Given the description of an element on the screen output the (x, y) to click on. 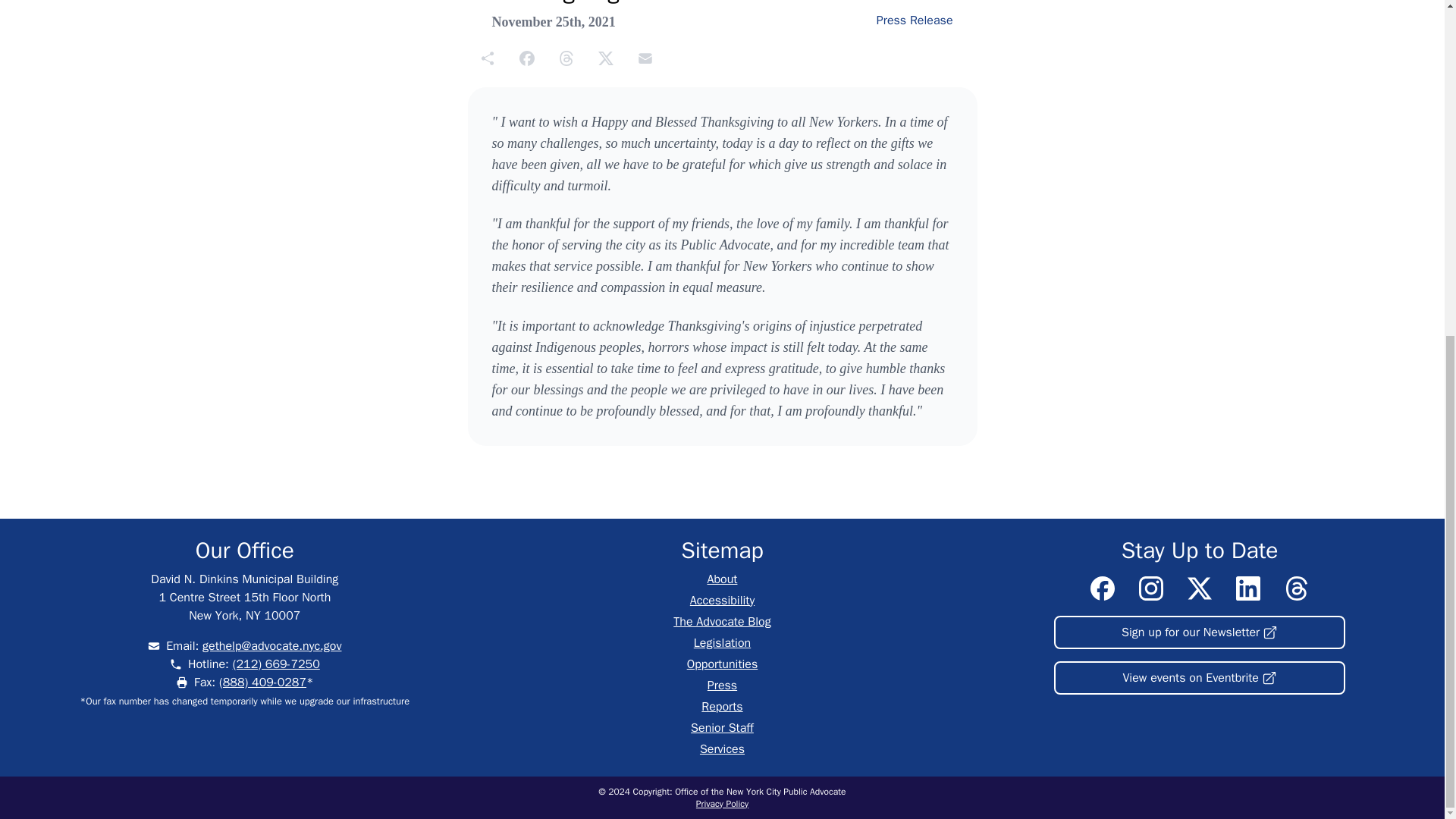
Opportunities (722, 663)
Reports (721, 706)
Services (722, 749)
View events on Eventbrite (1199, 677)
Share to Threads (565, 57)
The Advocate Blog (721, 621)
Accessibility (722, 600)
Share to Facebook (526, 57)
Share via e-mail (644, 57)
Sign up for our Newsletter (1199, 632)
